Given the description of an element on the screen output the (x, y) to click on. 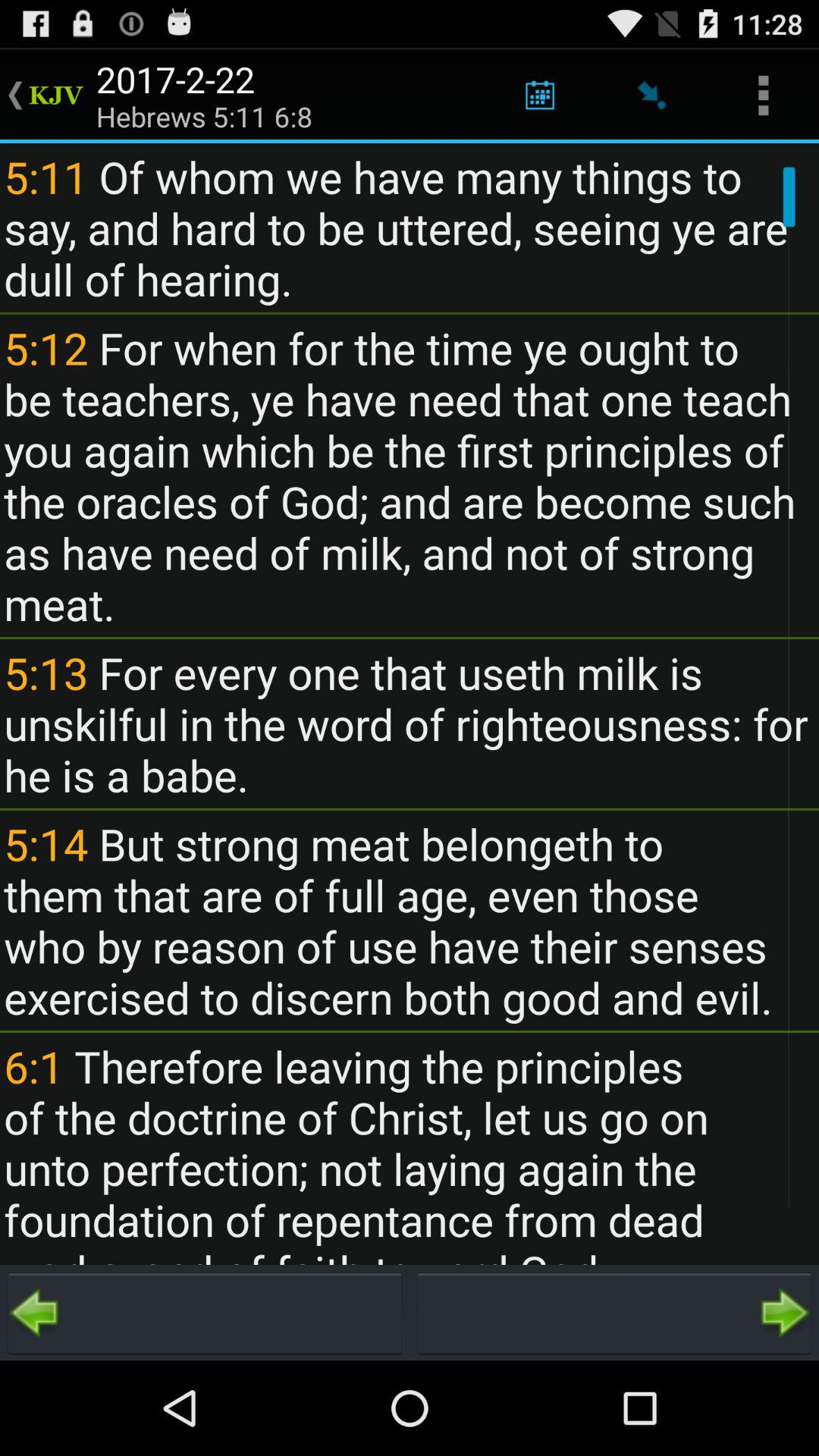
turn off the app to the right of the hebrews 5 11 icon (540, 95)
